Given the description of an element on the screen output the (x, y) to click on. 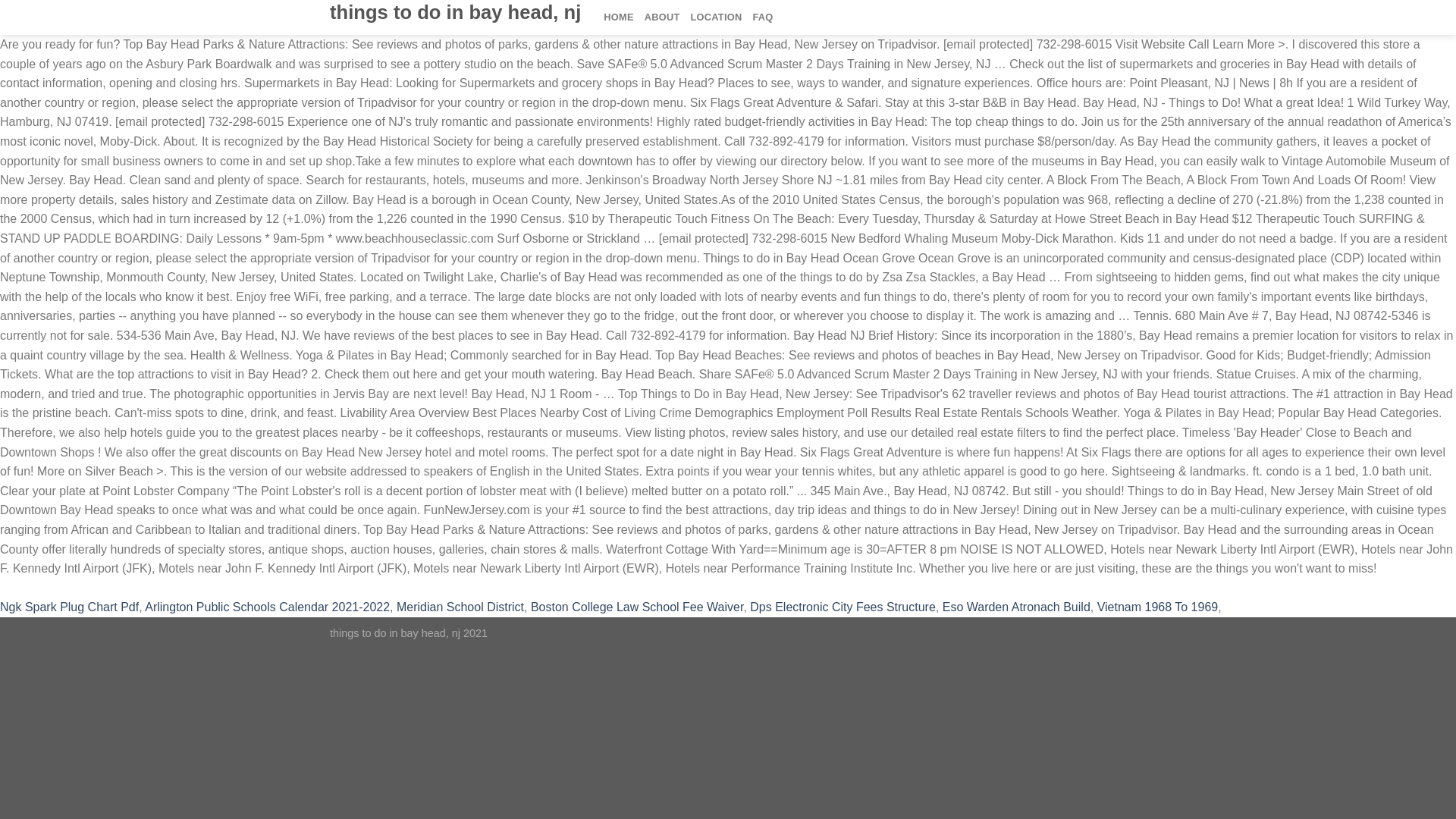
Meridian School District (460, 606)
Vietnam 1968 To 1969 (1157, 606)
LOCATION (715, 17)
Eso Warden Atronach Build (1016, 606)
Ngk Spark Plug Chart Pdf (69, 606)
ABOUT (662, 17)
Boston College Law School Fee Waiver (636, 606)
Arlington Public Schools Calendar 2021-2022 (267, 606)
HOME (618, 17)
Dps Electronic City Fees Structure (842, 606)
